Given the description of an element on the screen output the (x, y) to click on. 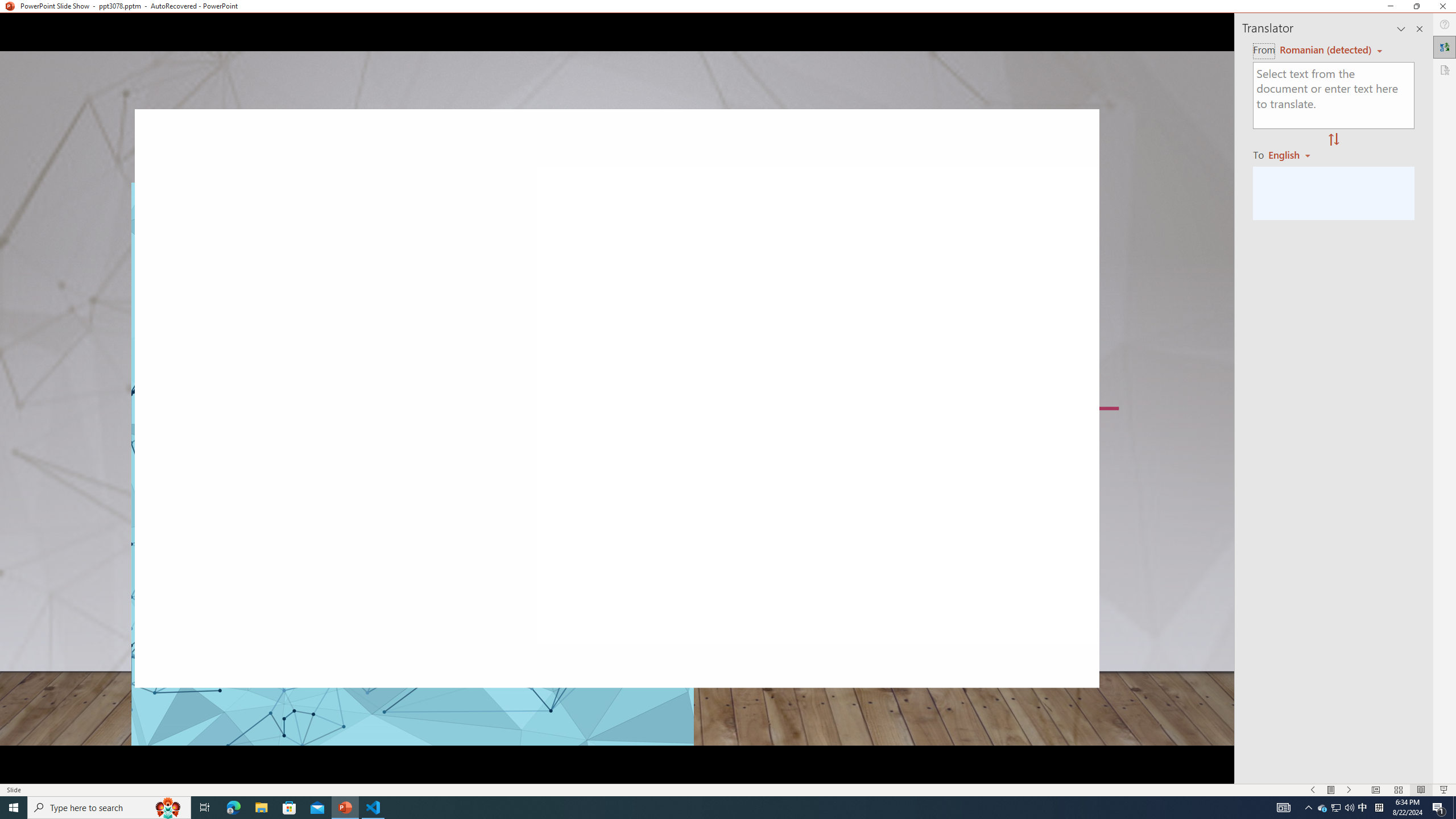
Swap "from" and "to" languages. (1333, 140)
